Given the description of an element on the screen output the (x, y) to click on. 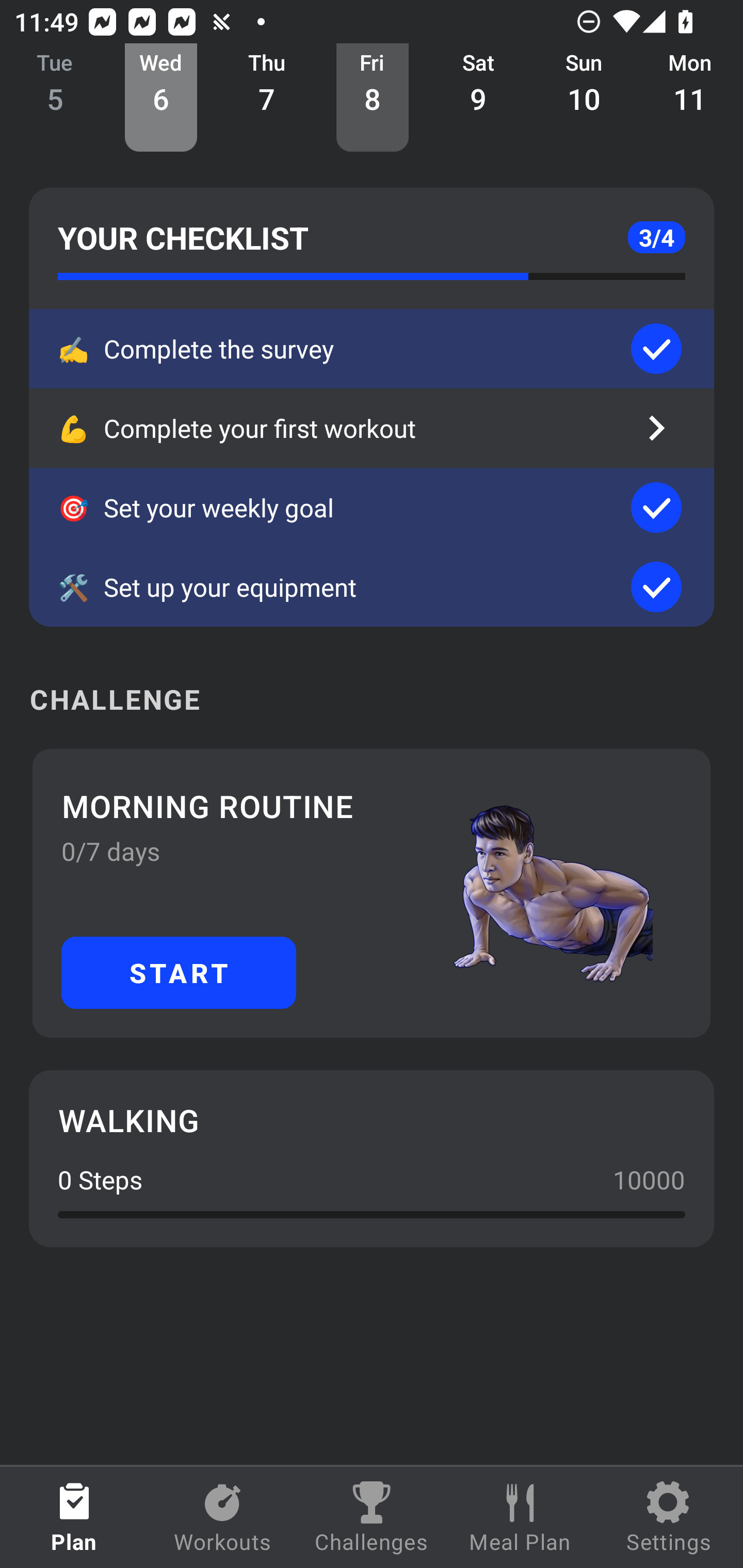
Tue 5 (55, 97)
Wed 6 (160, 97)
Thu 7 (266, 97)
Fri 8 (372, 97)
Sat 9 (478, 97)
Sun 10 (584, 97)
Mon 11 (690, 97)
💪 Complete your first workout (371, 427)
MORNING ROUTINE 0/7 days START (371, 892)
START (178, 972)
WALKING 0 Steps 10000 0.0 (371, 1158)
 Workouts  (222, 1517)
 Challenges  (371, 1517)
 Meal Plan  (519, 1517)
 Settings  (668, 1517)
